Given the description of an element on the screen output the (x, y) to click on. 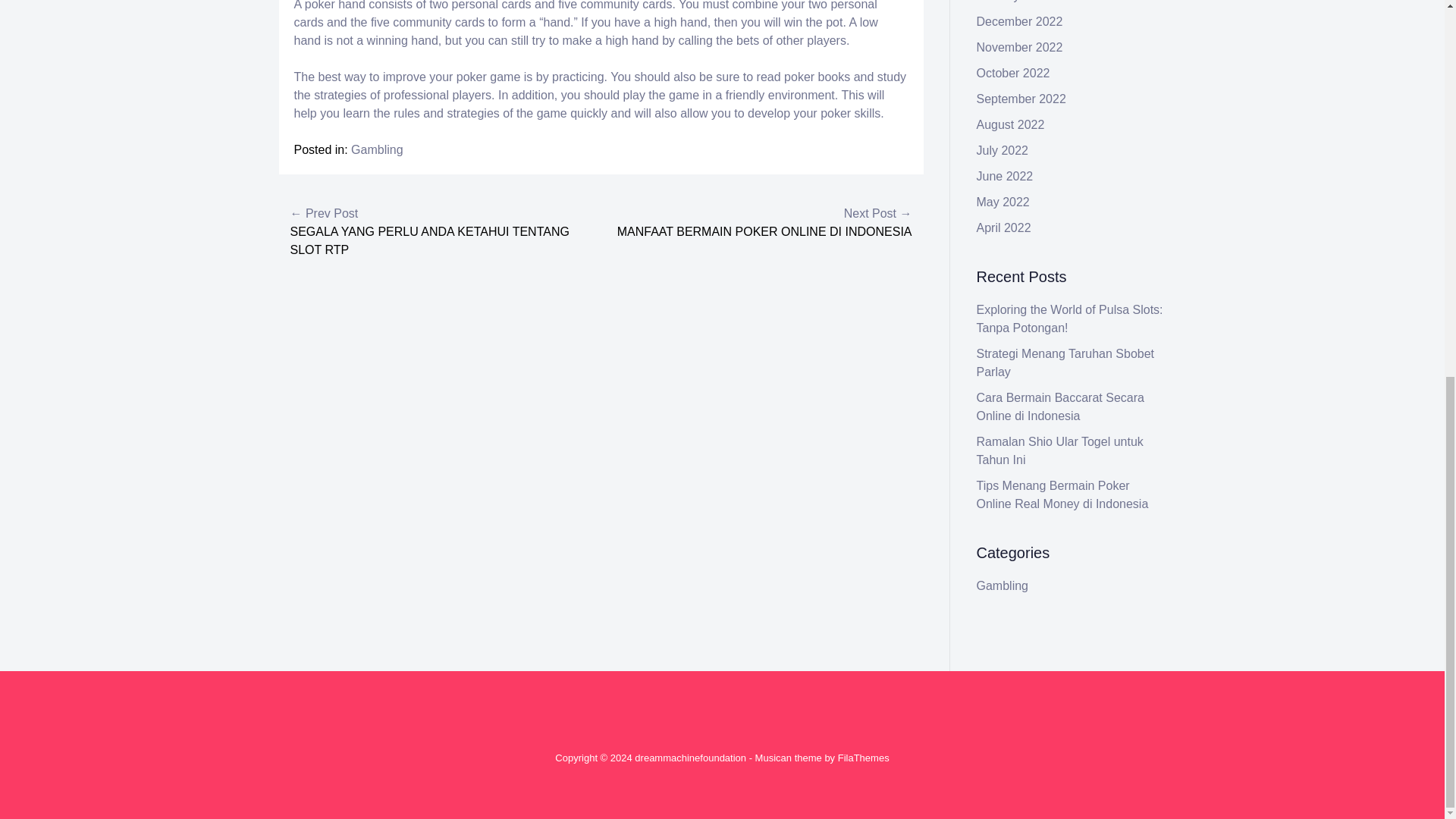
September 2022 (1020, 98)
Gambling (376, 149)
dreammachinefoundation (689, 757)
April 2022 (1003, 227)
Exploring the World of Pulsa Slots: Tanpa Potongan! (1069, 318)
June 2022 (1004, 175)
November 2022 (1019, 47)
October 2022 (1012, 72)
Strategi Menang Taruhan Sbobet Parlay (1065, 362)
August 2022 (1010, 124)
Cara Bermain Baccarat Secara Online di Indonesia (1060, 406)
December 2022 (1019, 21)
May 2022 (1002, 201)
January 2023 (1012, 1)
July 2022 (1002, 150)
